Given the description of an element on the screen output the (x, y) to click on. 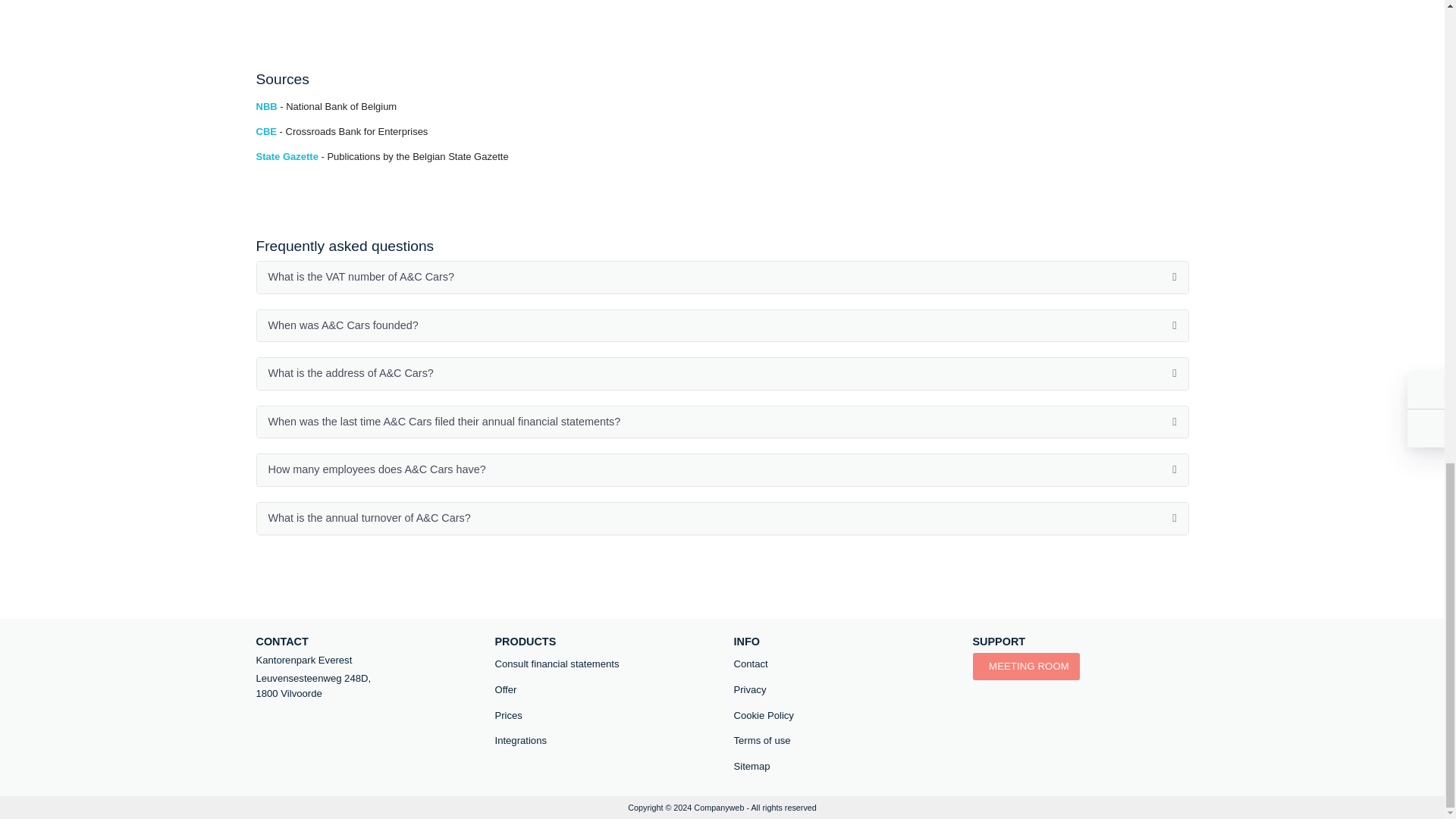
NBB - National Bank of Belgium (326, 106)
Offer (602, 689)
Sitemap (841, 766)
CBE - Crossroads Bank for Enterprises (342, 131)
Privacy (841, 689)
Terms of use (841, 740)
Contact (841, 663)
Prices (602, 715)
Integrations (602, 740)
State Gazette - Publications by the Belgian State Gazette (382, 156)
Cookie Policy (841, 715)
Consult financial statements (602, 663)
